Given the description of an element on the screen output the (x, y) to click on. 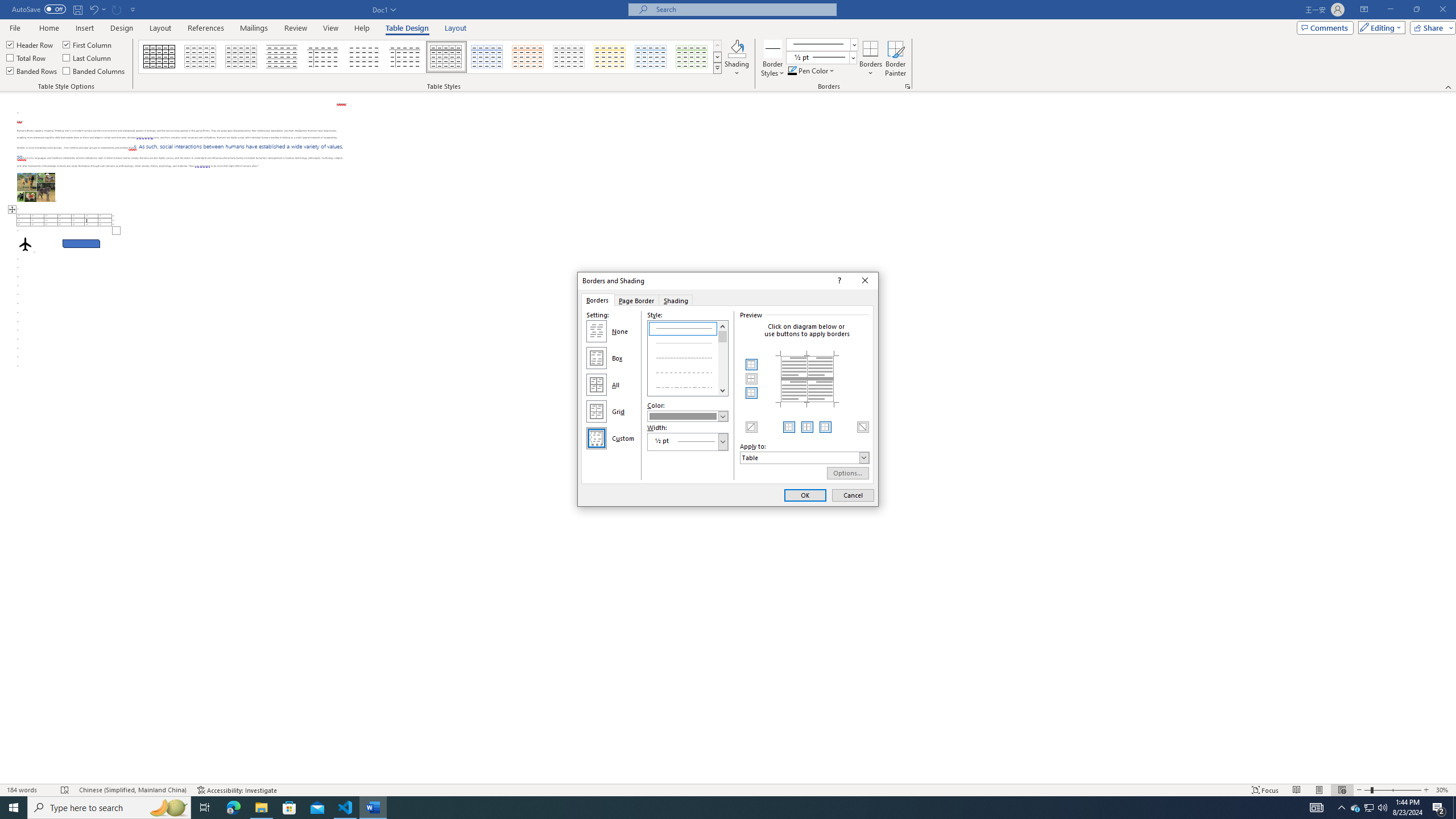
Focus  (1265, 790)
Table Grid Light (200, 56)
Class: MsoCommandBar (728, 45)
Collapse the Ribbon (1448, 86)
AutomationID: TableStylesGalleryWord (430, 56)
Zoom 30% (1443, 790)
Dashed (small gap) (687, 356)
Dotted (687, 341)
Airplane with solid fill (25, 243)
Row Down (717, 56)
Close (865, 280)
Microsoft search (742, 9)
Banded Columns (94, 69)
